Given the description of an element on the screen output the (x, y) to click on. 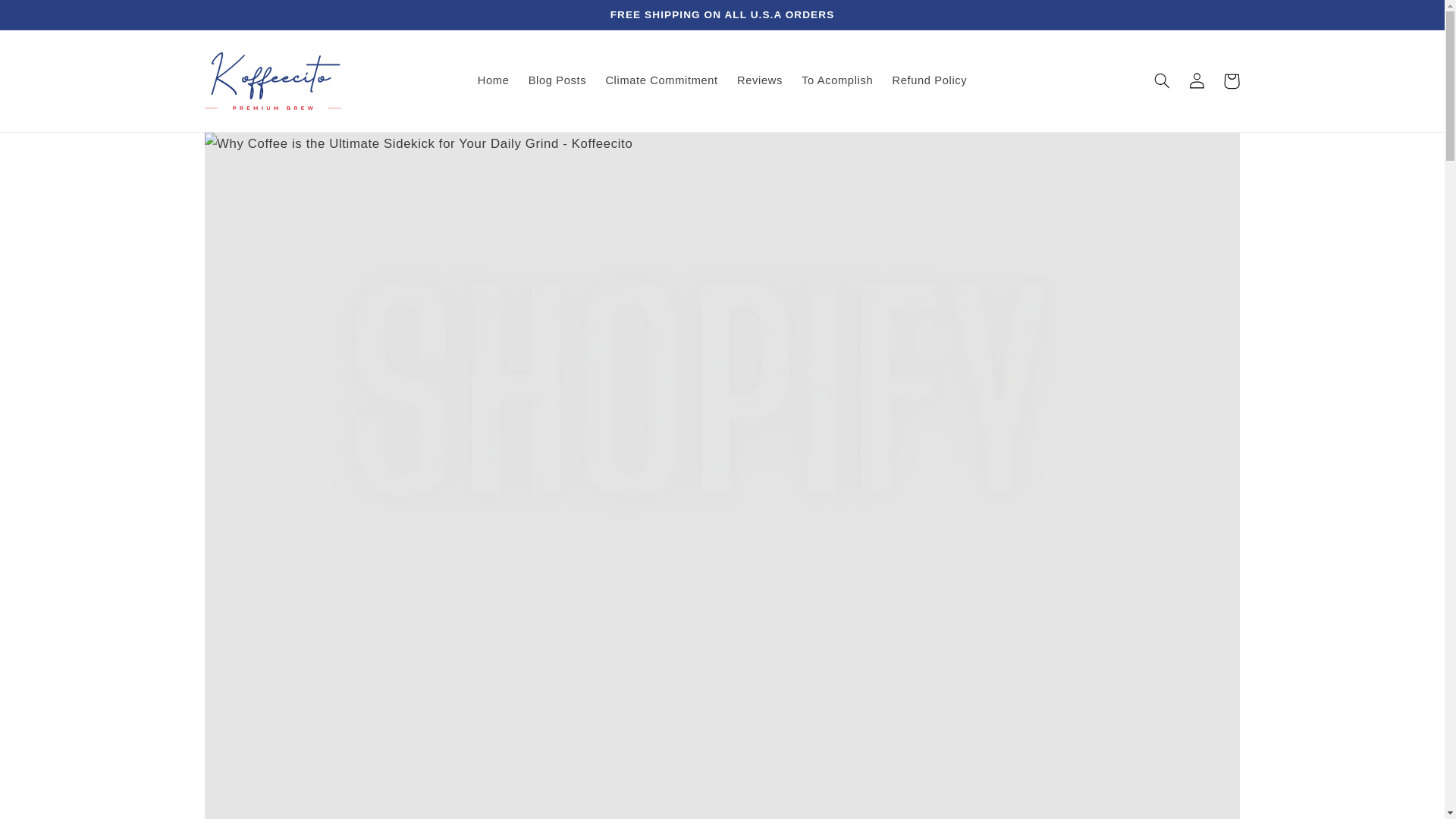
Skip to content (47, 17)
Reviews (759, 80)
Home (492, 80)
Refund Policy (929, 80)
Log in (1196, 80)
Climate Commitment (661, 80)
To Acomplish (837, 80)
Blog Posts (556, 80)
Cart (1231, 80)
